Given the description of an element on the screen output the (x, y) to click on. 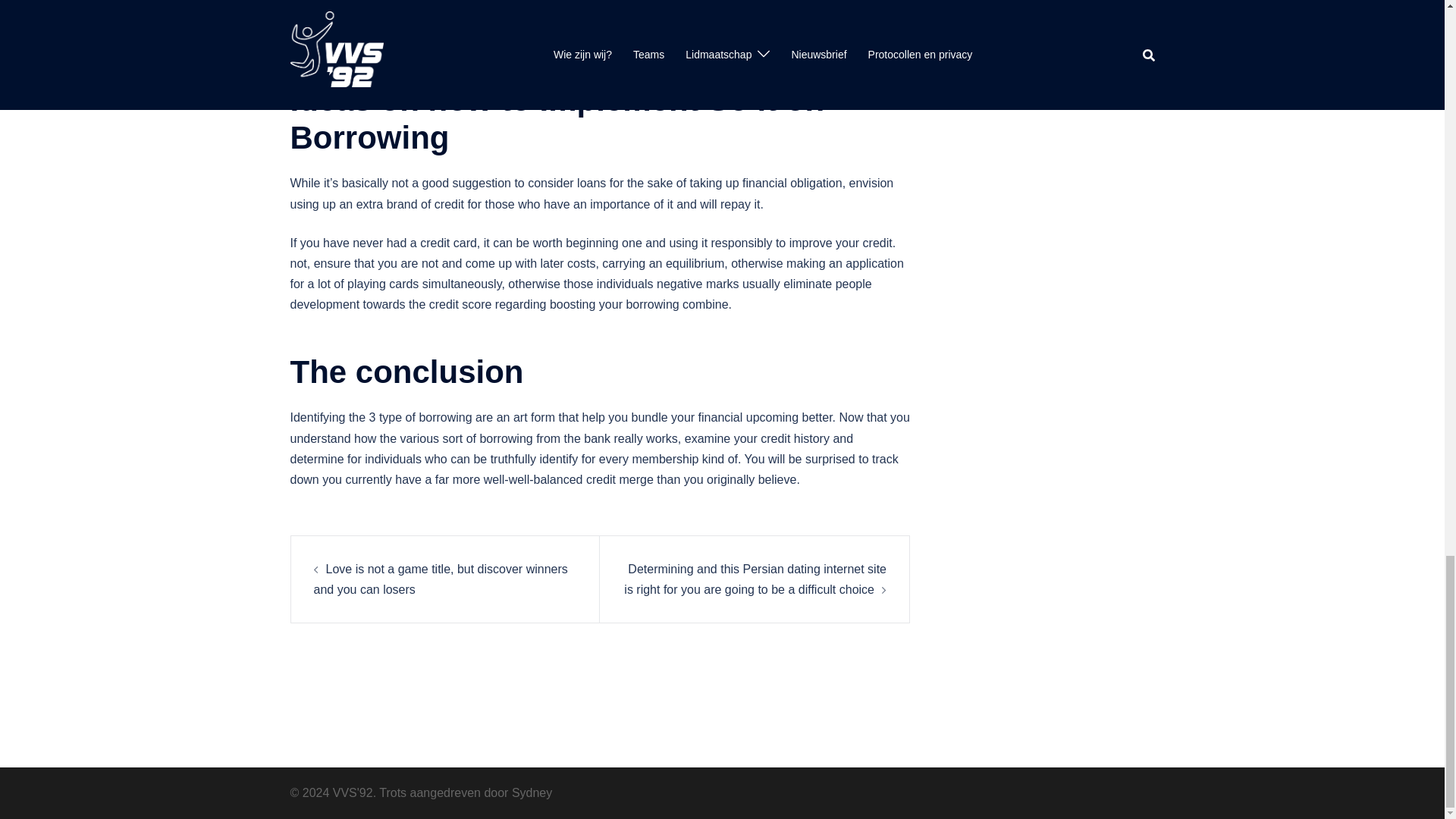
Sydney (531, 792)
